Given the description of an element on the screen output the (x, y) to click on. 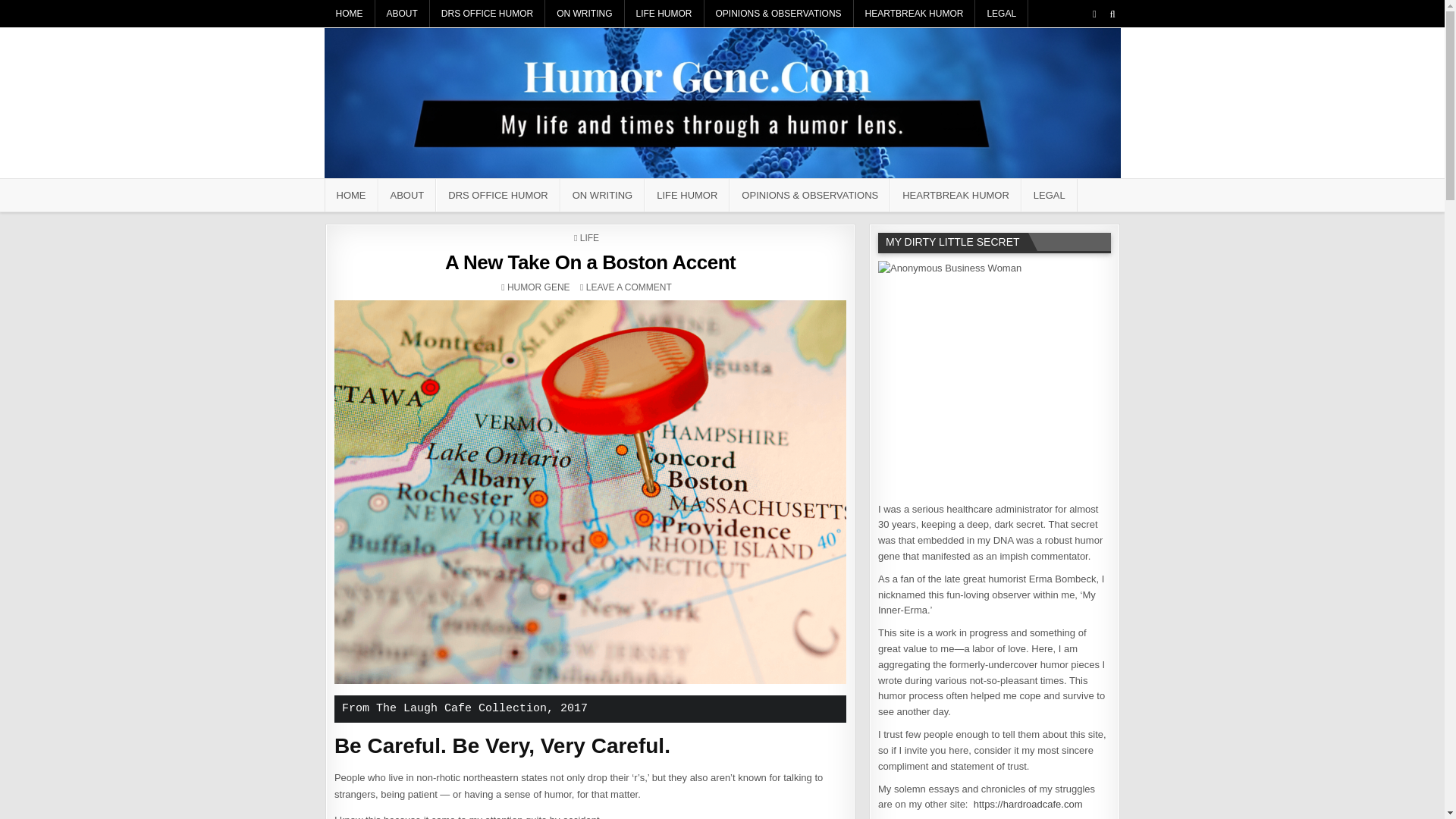
ON WRITING (584, 13)
ABOUT (401, 13)
LEAVE A COMMENT (628, 286)
DRS OFFICE HUMOR (497, 195)
ABOUT (406, 195)
HUMOR GENE (538, 286)
LEGAL (1001, 13)
Search (1112, 13)
ON WRITING (602, 195)
HOME (349, 13)
LIFE (588, 237)
HOME (351, 195)
HEARTBREAK HUMOR (914, 13)
A New Take On a Boston Accent (590, 261)
